Given the description of an element on the screen output the (x, y) to click on. 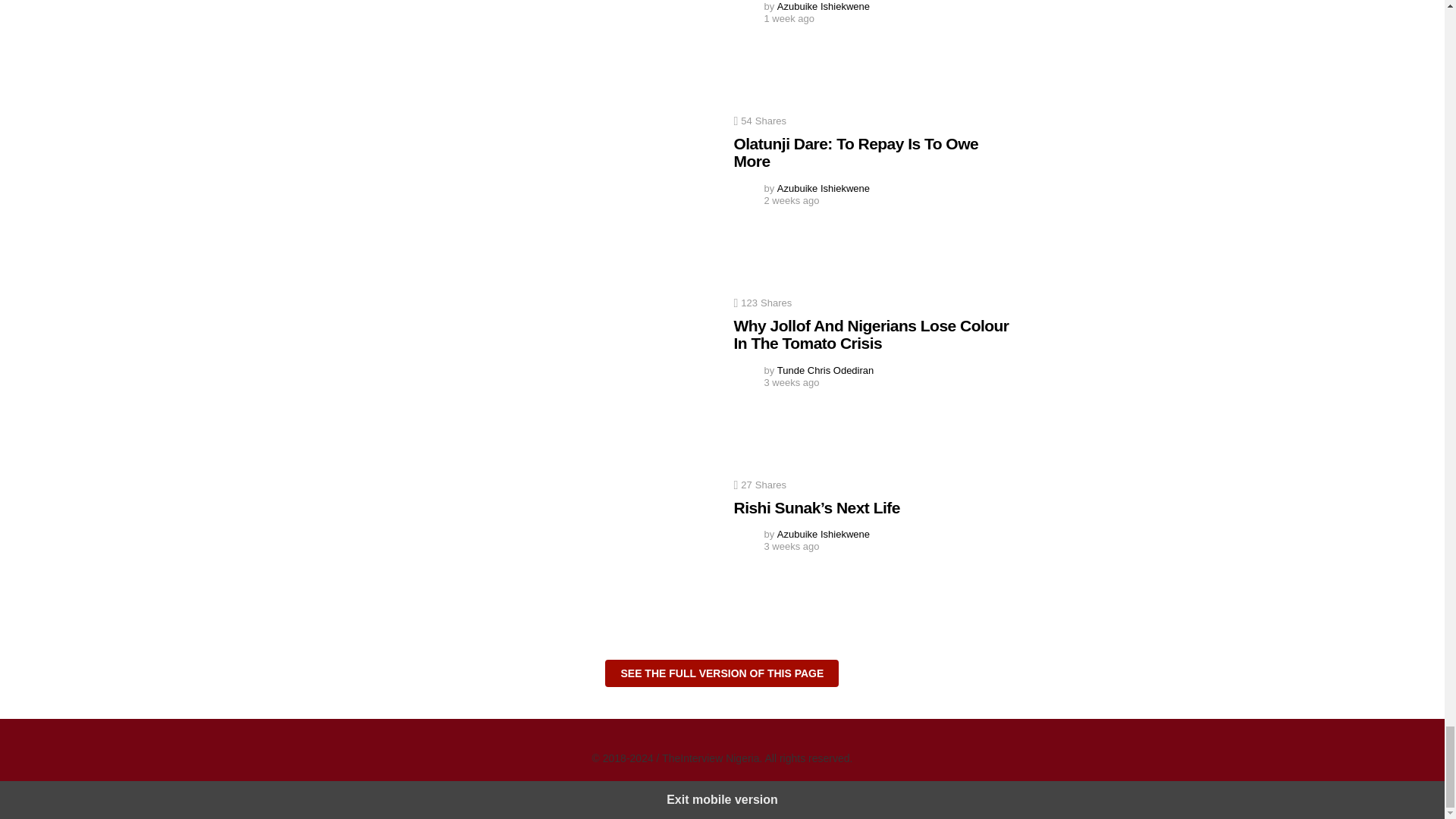
Posts by Azubuike Ishiekwene (823, 533)
Olatunji Dare: To Repay Is To Owe More (573, 192)
Posts by Azubuike Ishiekwene (823, 6)
Posts by Azubuike Ishiekwene (823, 188)
Why Jollof And Nigerians Lose Colour In The Tomato Crisis (573, 375)
Ajibola Ogunshola: Triumph Of The Non-newspaperman (573, 45)
Posts by Tunde Chris Odediran (825, 369)
